Given the description of an element on the screen output the (x, y) to click on. 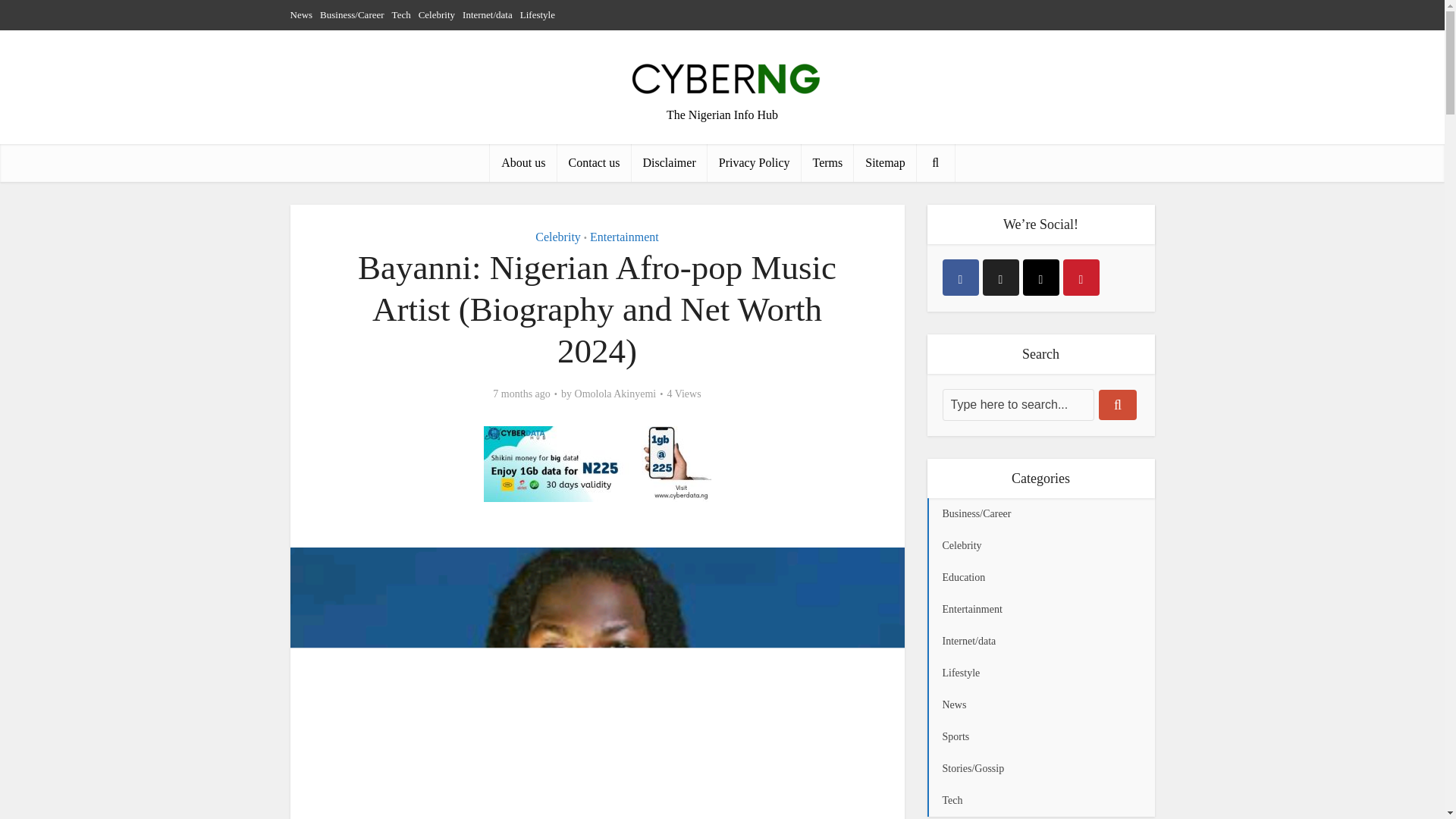
Tech (400, 14)
Quora (1080, 277)
Celebrity (557, 236)
Celebrity (436, 14)
Facebook (960, 277)
About us (522, 162)
Type here to search... (1017, 404)
Privacy Policy (754, 162)
Instagram (1040, 277)
Lifestyle (536, 14)
Type here to search... (1017, 404)
Sitemap (884, 162)
Entertainment (624, 236)
News (301, 14)
Omolola Akinyemi (615, 394)
